Given the description of an element on the screen output the (x, y) to click on. 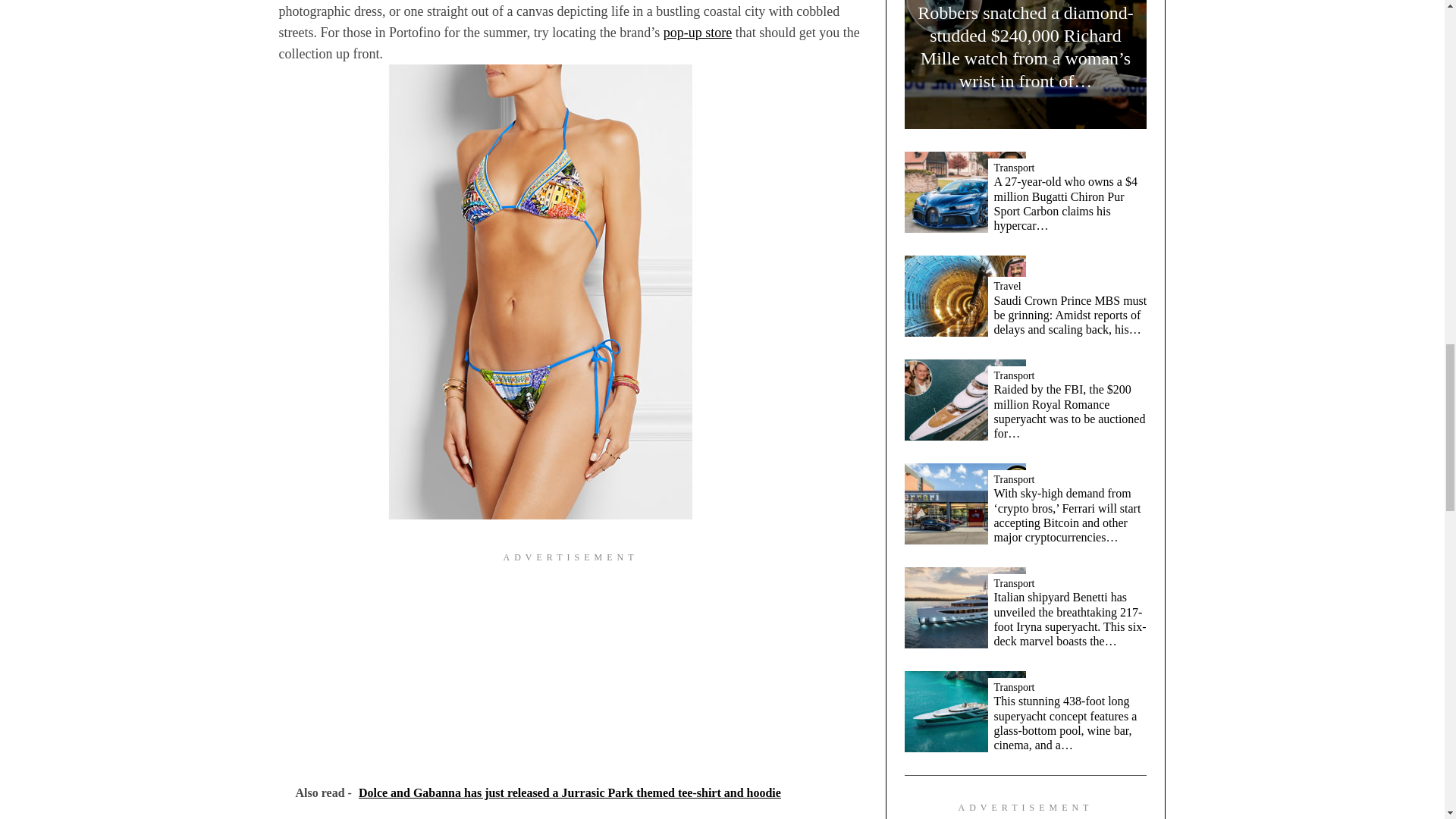
pop-up store (697, 31)
